Given the description of an element on the screen output the (x, y) to click on. 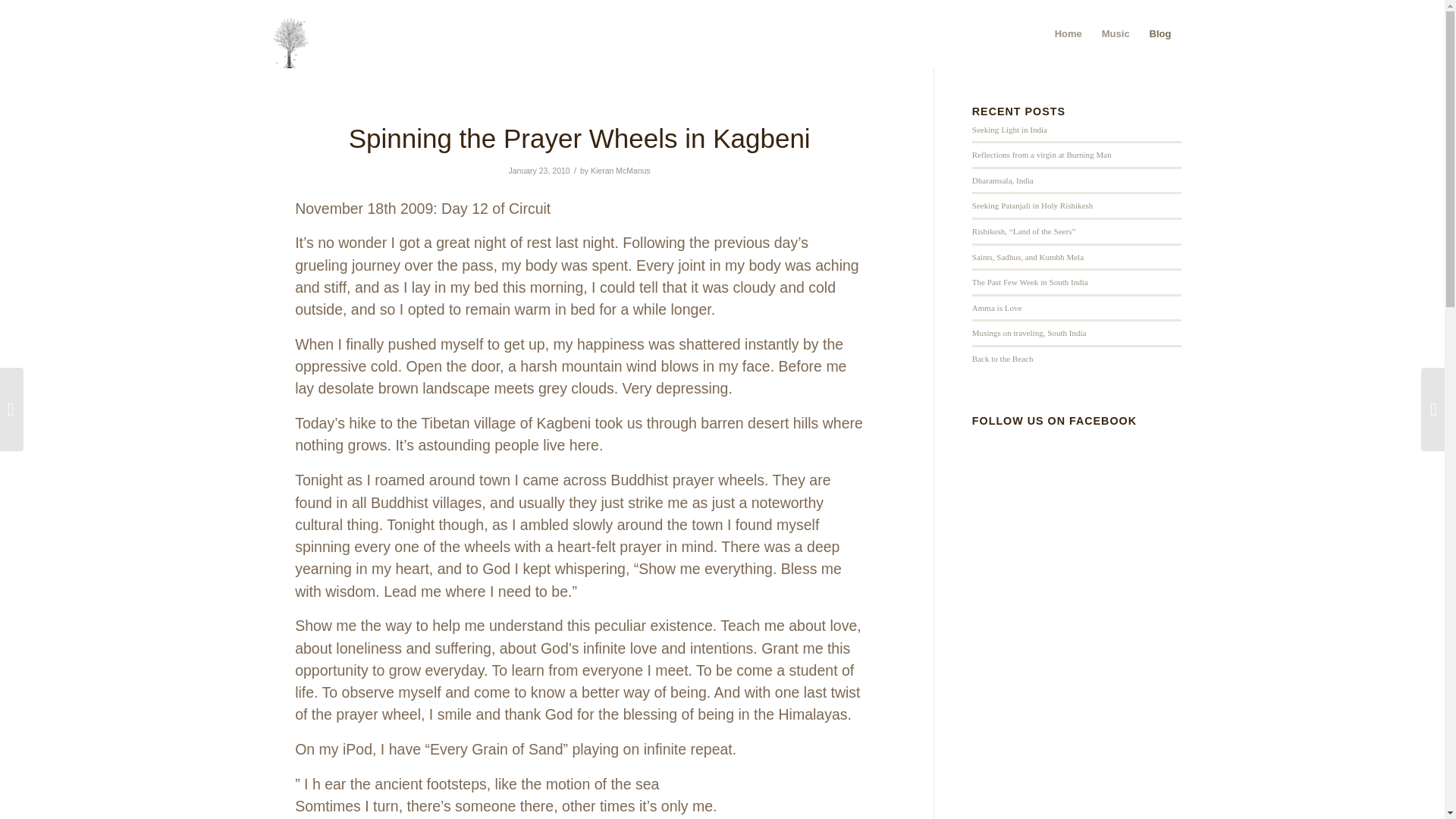
The Past Few Week in South India (1029, 281)
Dharamsala, India (1002, 180)
Seeking Patanjali in Holy Rishikesh (1032, 204)
Musings on traveling, South India (1029, 332)
Amma is Love (997, 307)
Reflections from a virgin at Burning Man (1042, 153)
Back to the Beach (1002, 358)
Seeking Light in India (1009, 129)
Saints, Sadhus, and Kumbh Mela (1027, 256)
Posts by Kieran McManus (620, 169)
